Given the description of an element on the screen output the (x, y) to click on. 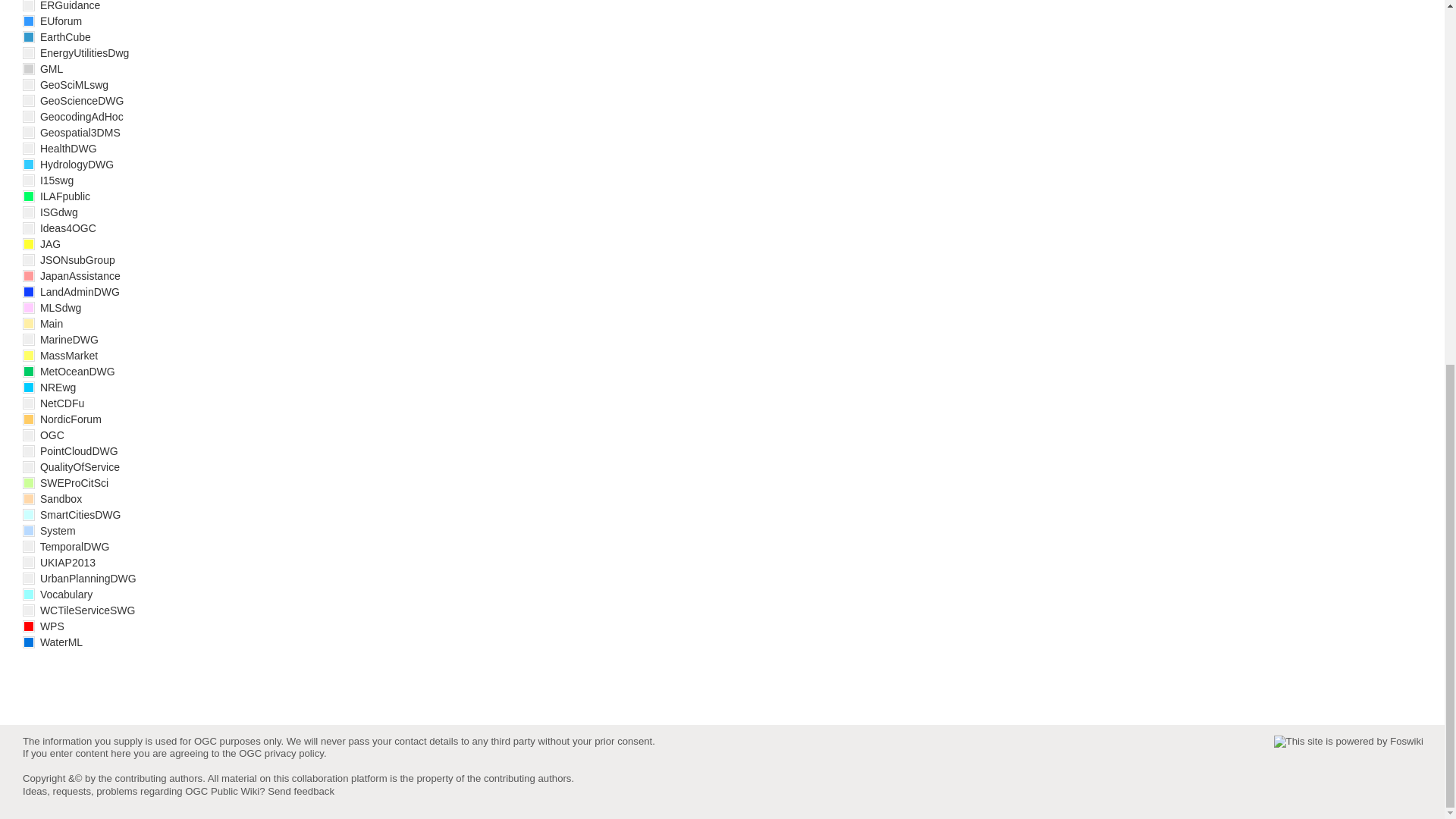
This site is powered by Foswiki (1348, 741)
